Given the description of an element on the screen output the (x, y) to click on. 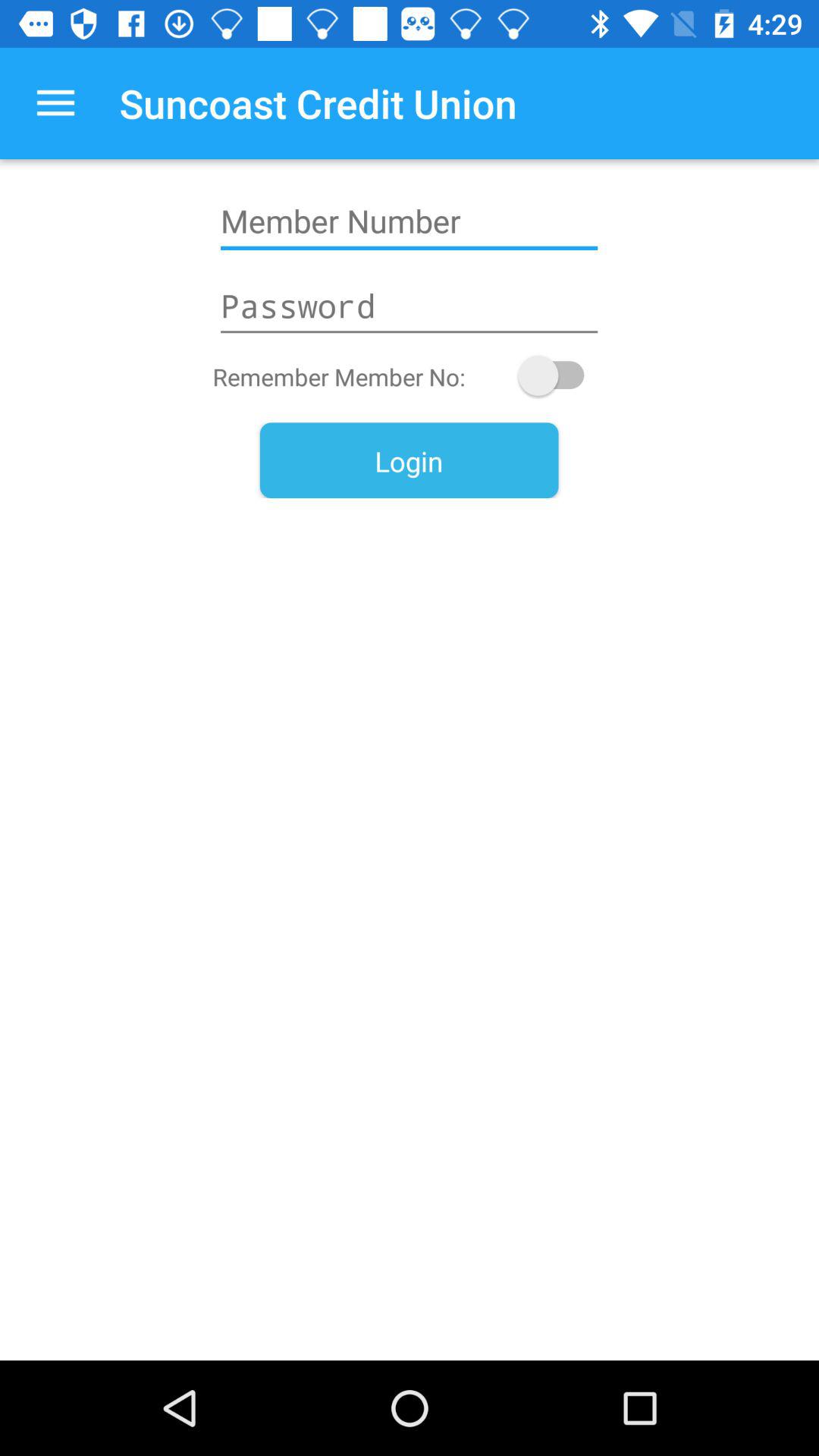
remember member number toggle (558, 375)
